Given the description of an element on the screen output the (x, y) to click on. 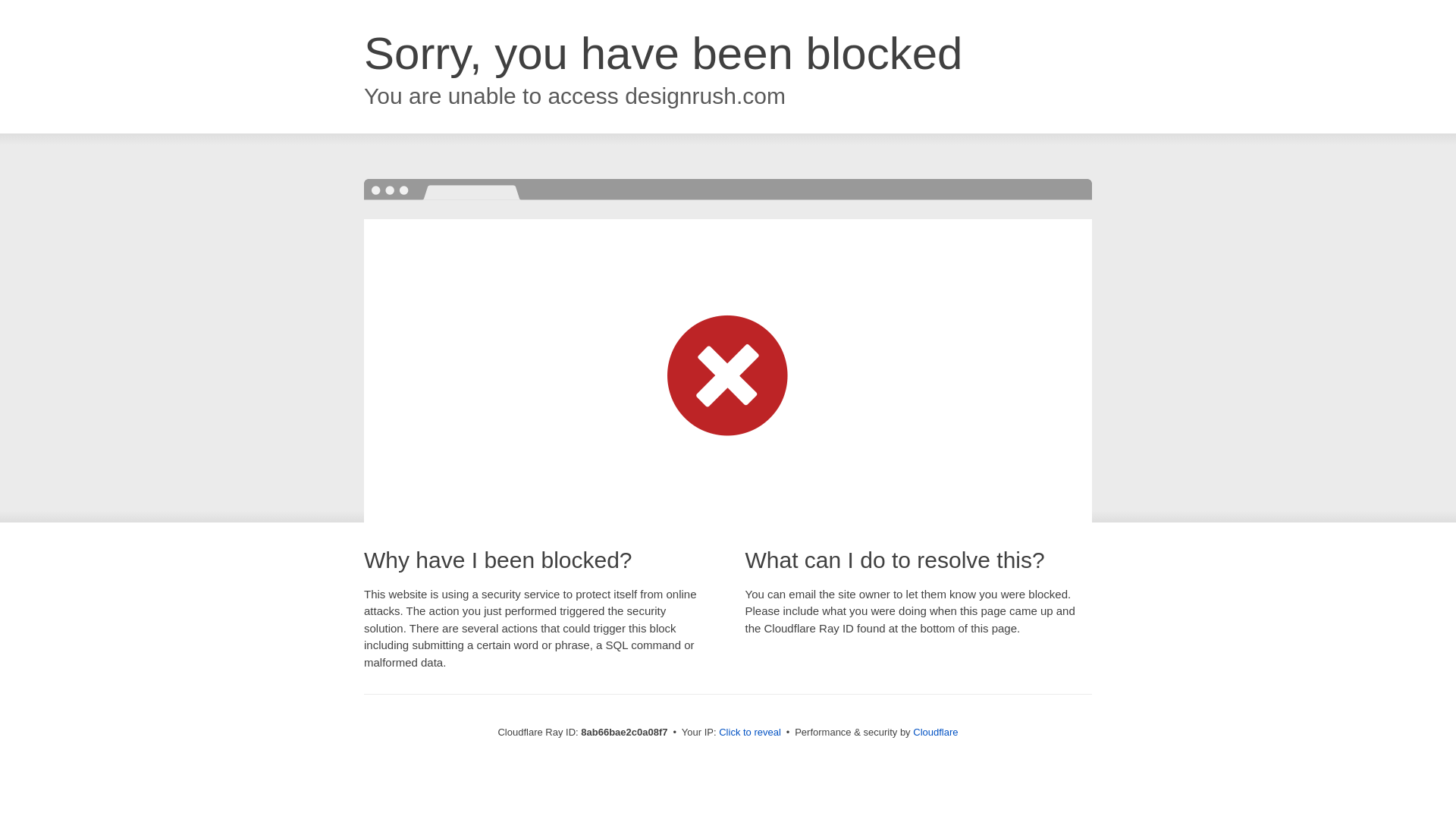
Cloudflare (935, 731)
Click to reveal (749, 732)
